Given the description of an element on the screen output the (x, y) to click on. 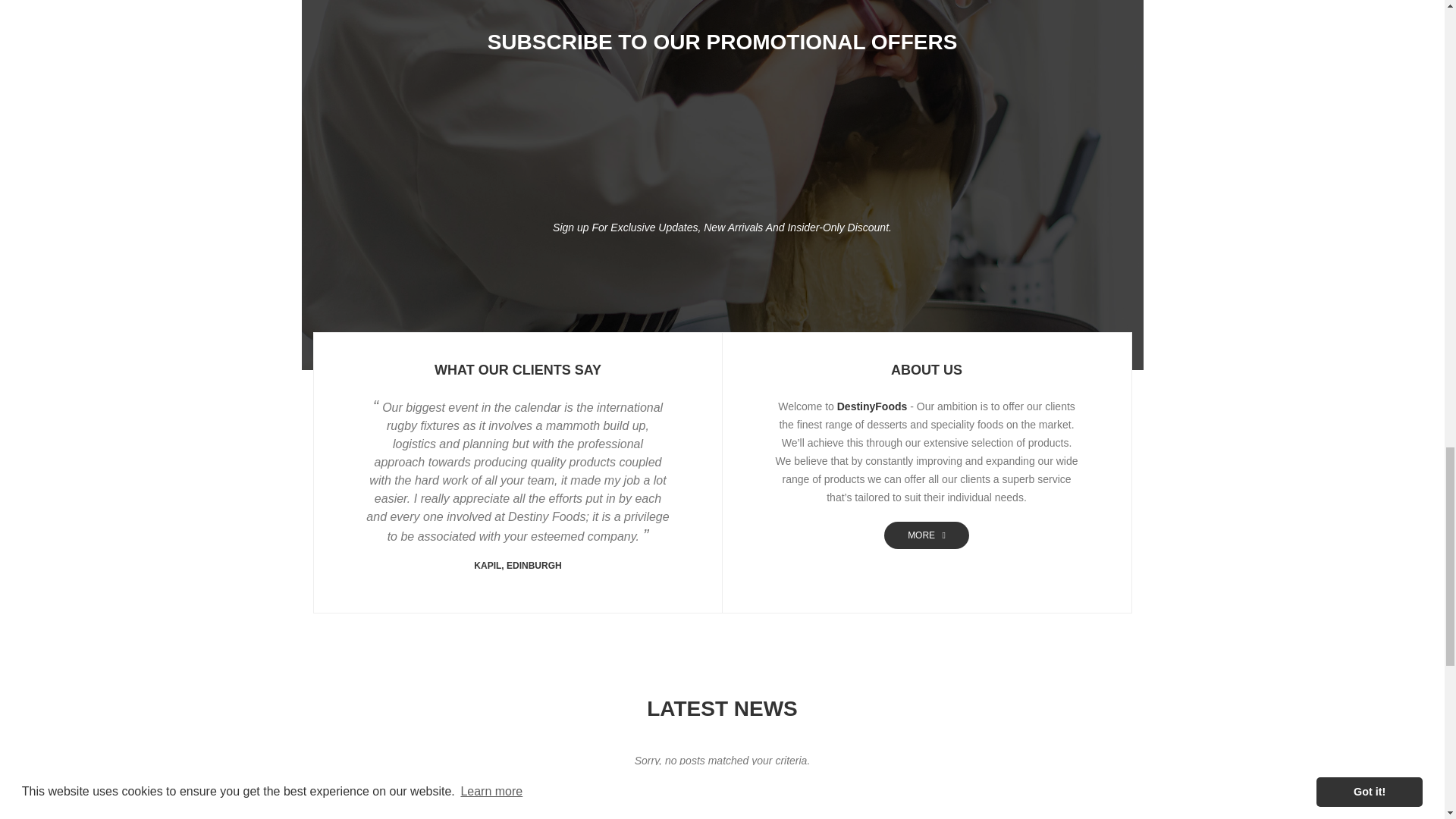
Form 0 (722, 143)
